Given the description of an element on the screen output the (x, y) to click on. 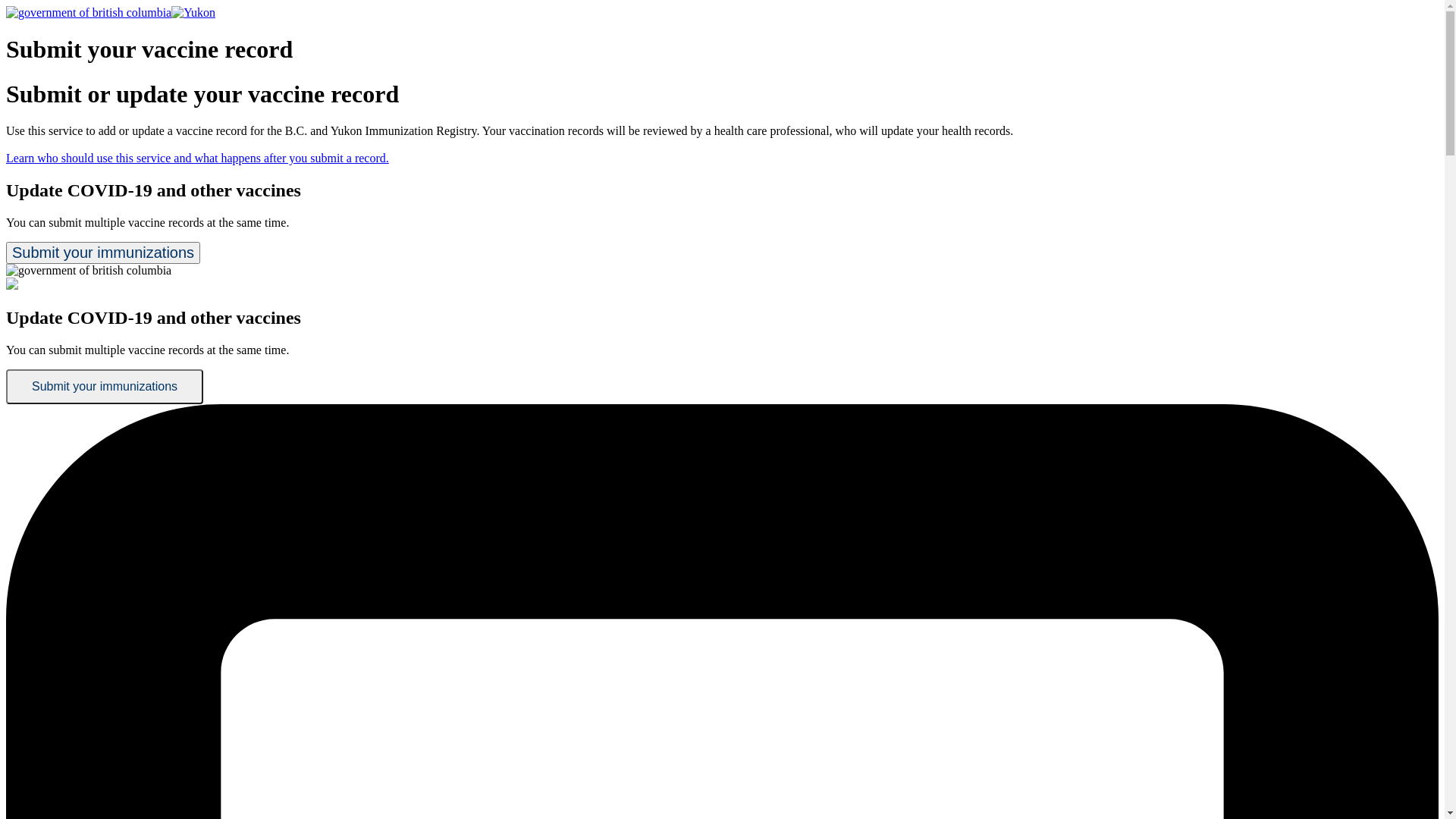
Submit your immunizations Element type: text (104, 386)
Submit your immunizations Element type: text (103, 252)
